Given the description of an element on the screen output the (x, y) to click on. 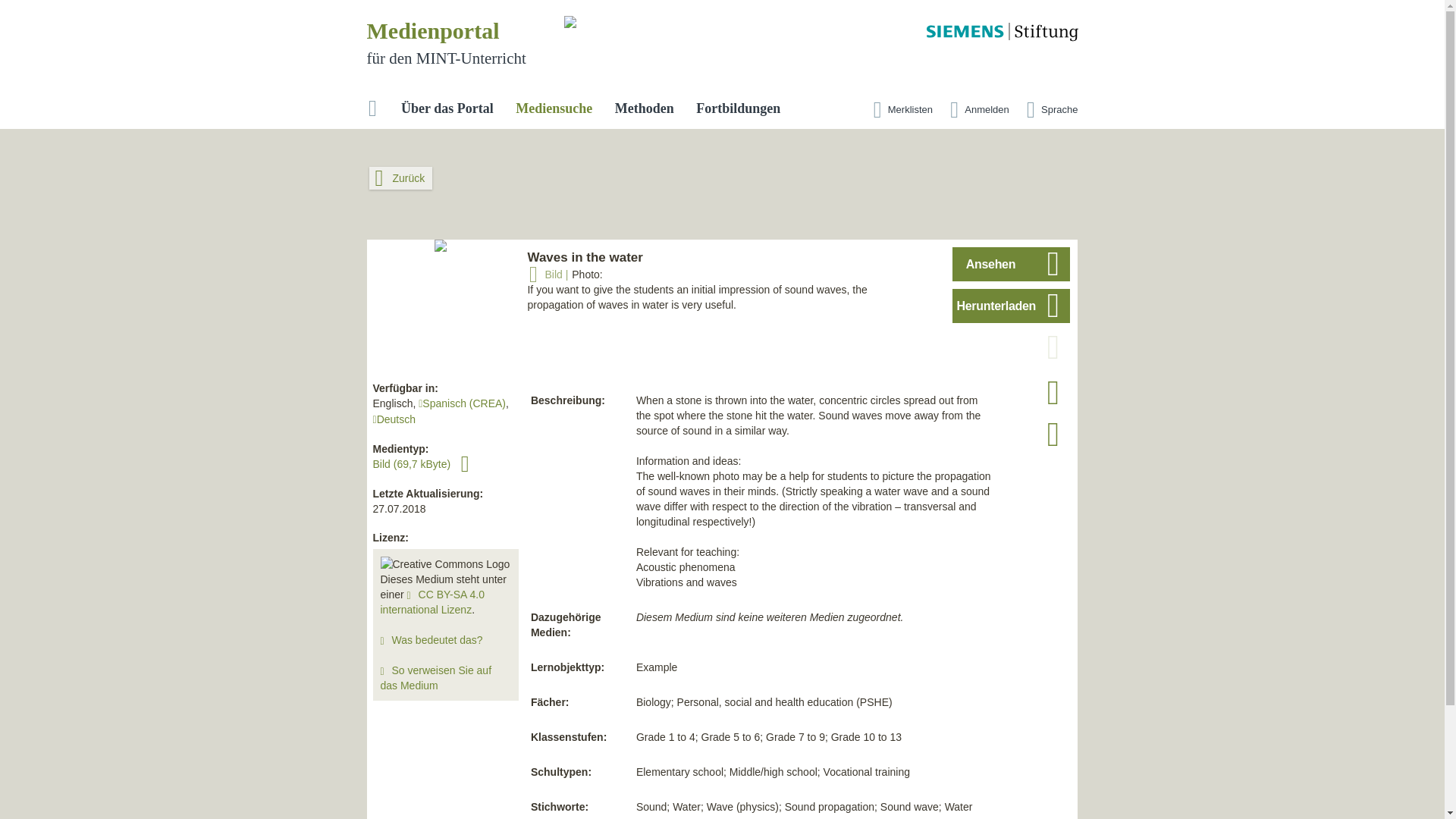
Sprache (1048, 111)
CC BY-SA 4.0 international Lizenz (432, 601)
Merklisten (899, 111)
Creative Commons Logo (445, 563)
Ondas en el agua (462, 403)
Methoden (644, 109)
Medienportal (432, 30)
Fortbildungen (737, 109)
Was bedeutet das? (436, 639)
Mediensuche (553, 109)
